Given the description of an element on the screen output the (x, y) to click on. 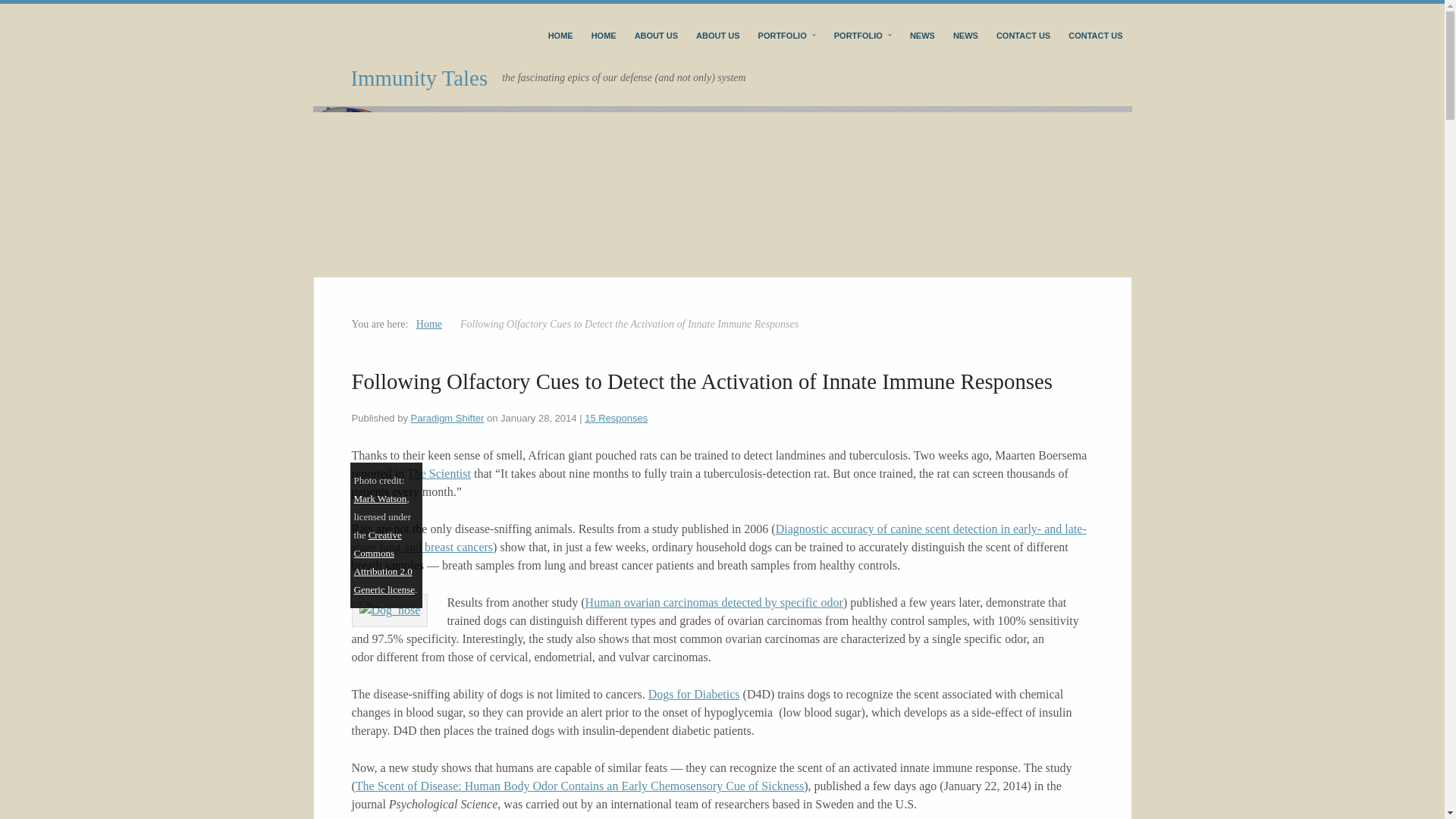
15 Responses (616, 418)
Paradigm Shifter (447, 418)
CONTACT US (1023, 35)
Home (429, 324)
PORTFOLIO (863, 35)
Tuesday, January 28th, 2014, 11:53 pm (538, 418)
Human ovarian carcinomas detected by specific odor (714, 602)
NEWS (965, 35)
Dogs for Diabetics (693, 694)
